Given the description of an element on the screen output the (x, y) to click on. 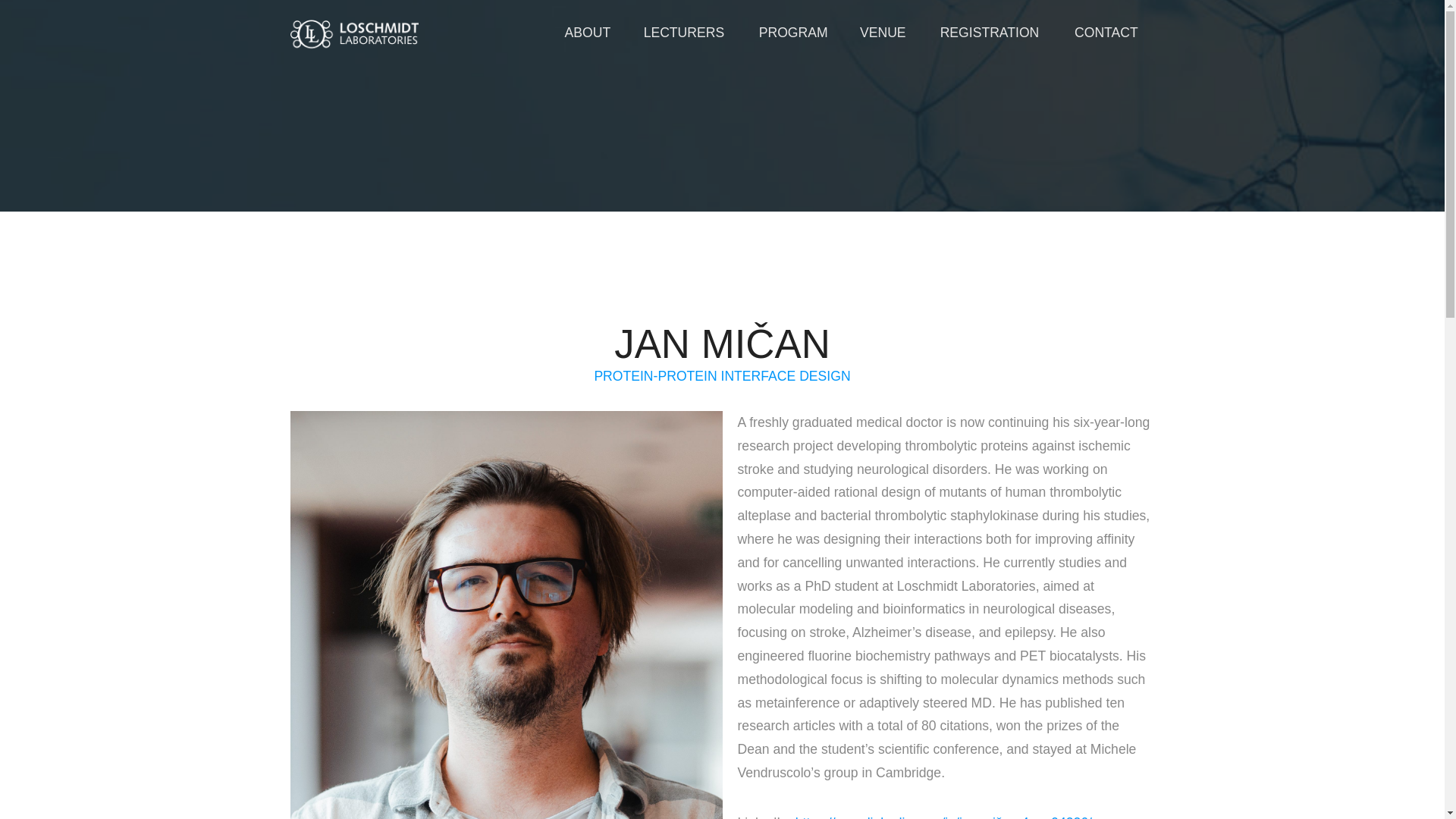
LECTURERS (683, 32)
PROGRAM (792, 32)
CONTACT (1106, 32)
VENUE (882, 32)
ABOUT (587, 32)
REGISTRATION (989, 32)
